Given the description of an element on the screen output the (x, y) to click on. 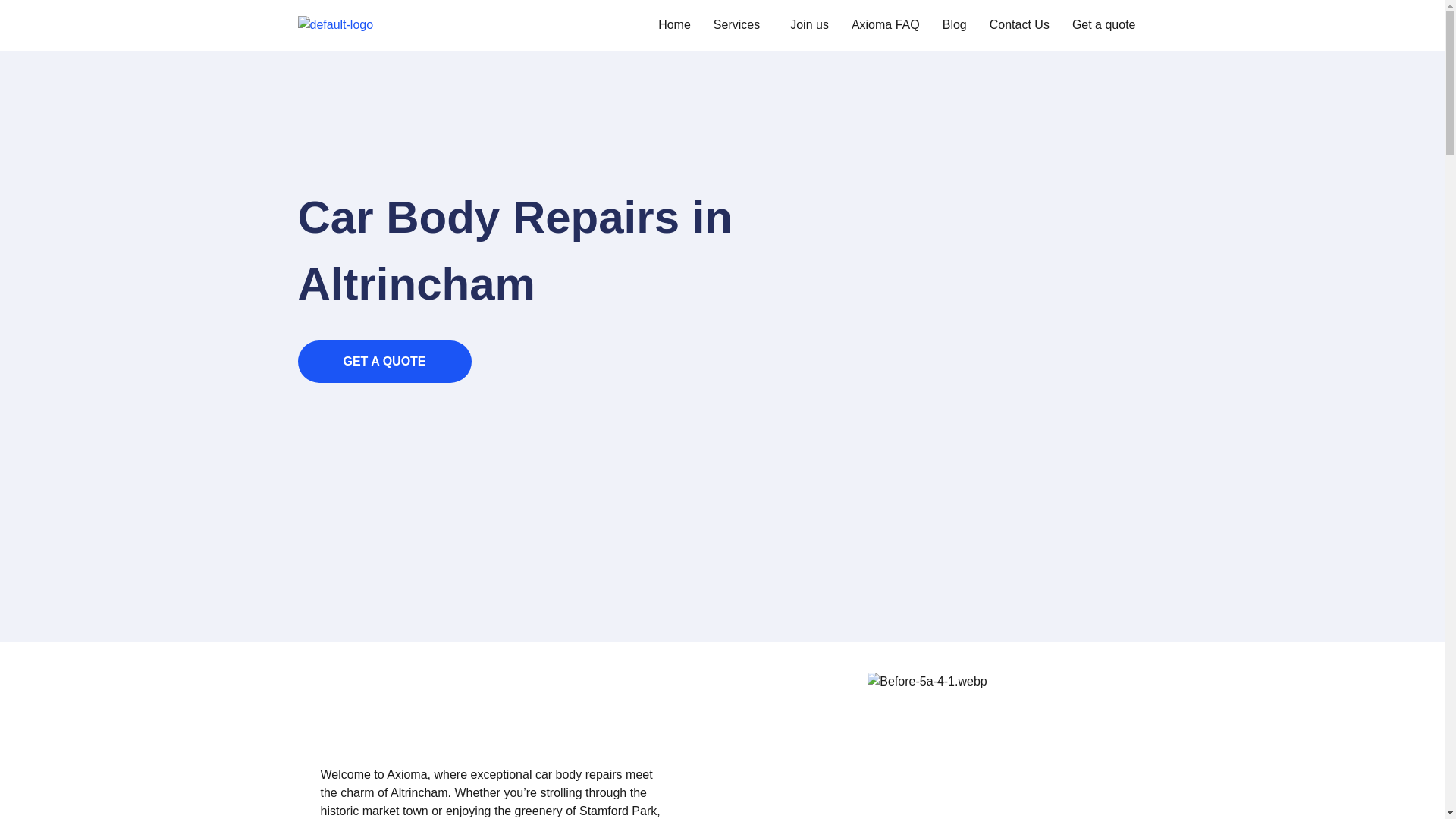
Services (739, 24)
Home (673, 24)
Blog (954, 24)
Contact Us (1019, 24)
Get a quote (1104, 24)
GET A QUOTE (383, 360)
Axioma FAQ (885, 24)
Embedded Content (396, 461)
Join us (809, 24)
